Given the description of an element on the screen output the (x, y) to click on. 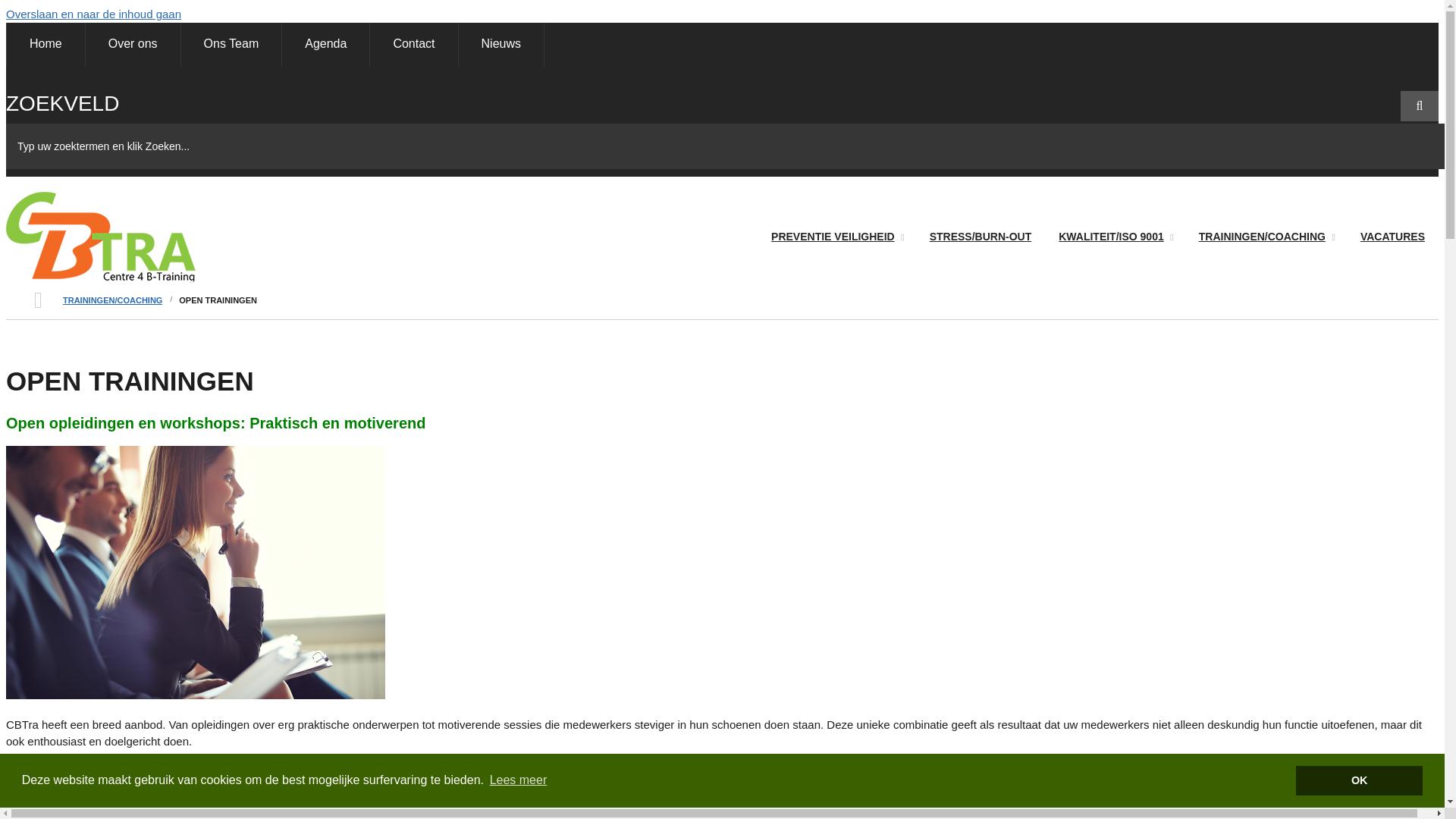
Lees meer Element type: text (517, 779)
contacteren Element type: text (413, 796)
VACATURES Element type: text (1392, 236)
Ons Team Element type: text (231, 45)
Over ons Element type: text (132, 45)
TRAININGEN/COACHING Element type: text (112, 300)
TRAININGEN/COACHING Element type: text (1265, 236)
Contact Element type: text (413, 45)
PREVENTIE VEILIGHEID Element type: text (836, 236)
Nieuws Element type: text (501, 45)
Home Element type: text (45, 45)
Home Element type: hover (100, 278)
KWALITEIT/ISO 9001 Element type: text (1114, 236)
OK Element type: text (1358, 780)
agenda Element type: text (305, 768)
Overslaan en naar de inhoud gaan Element type: text (93, 13)
STRESS/BURN-OUT Element type: text (980, 236)
Agenda Element type: text (325, 45)
HOME Element type: text (38, 300)
